Given the description of an element on the screen output the (x, y) to click on. 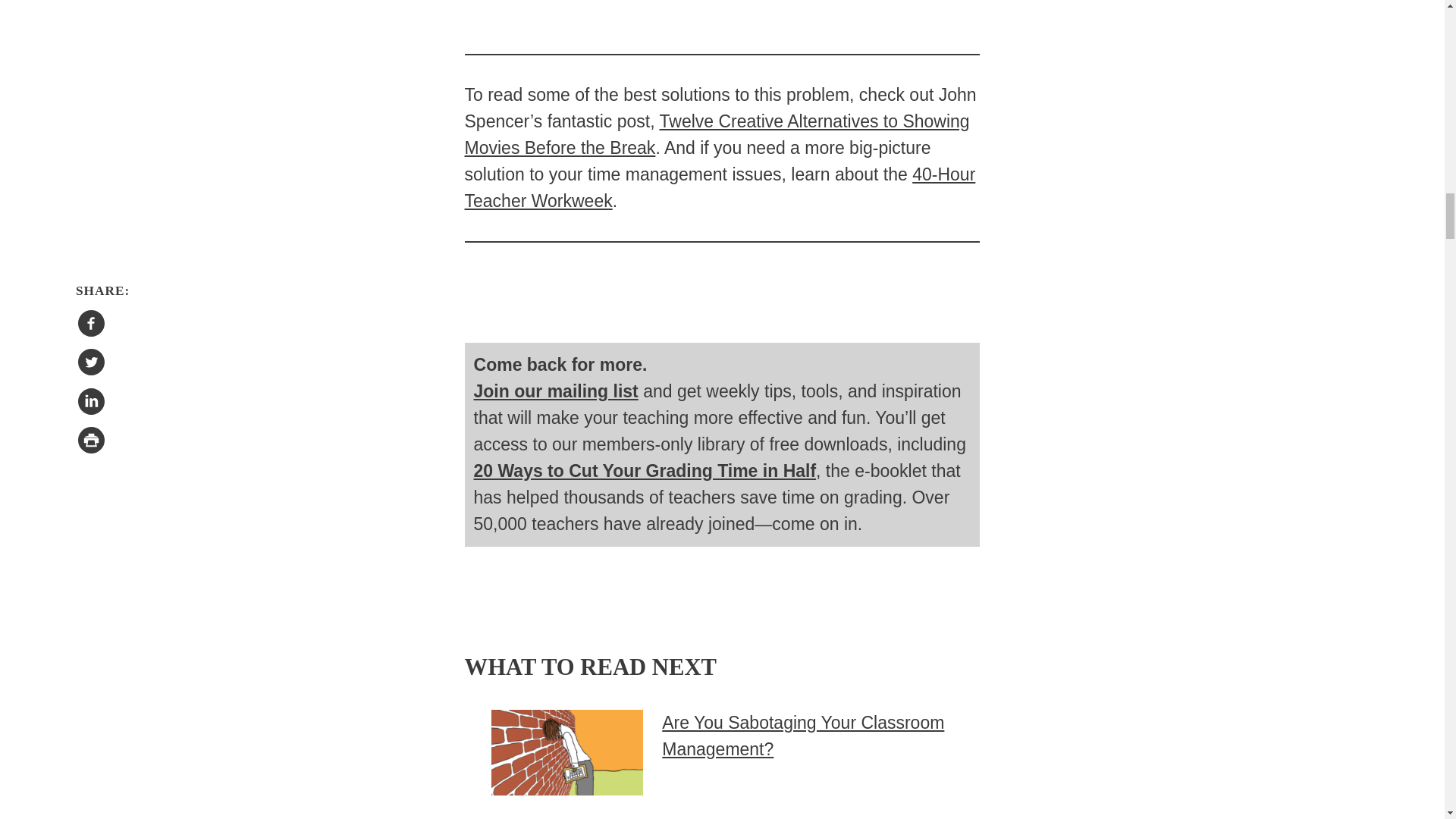
Join our mailing list (556, 391)
20 Ways to Cut Your Grading Time in Half (645, 470)
40-Hour Teacher Workweek (719, 187)
Are You Sabotaging Your Classroom Management? (802, 735)
